Given the description of an element on the screen output the (x, y) to click on. 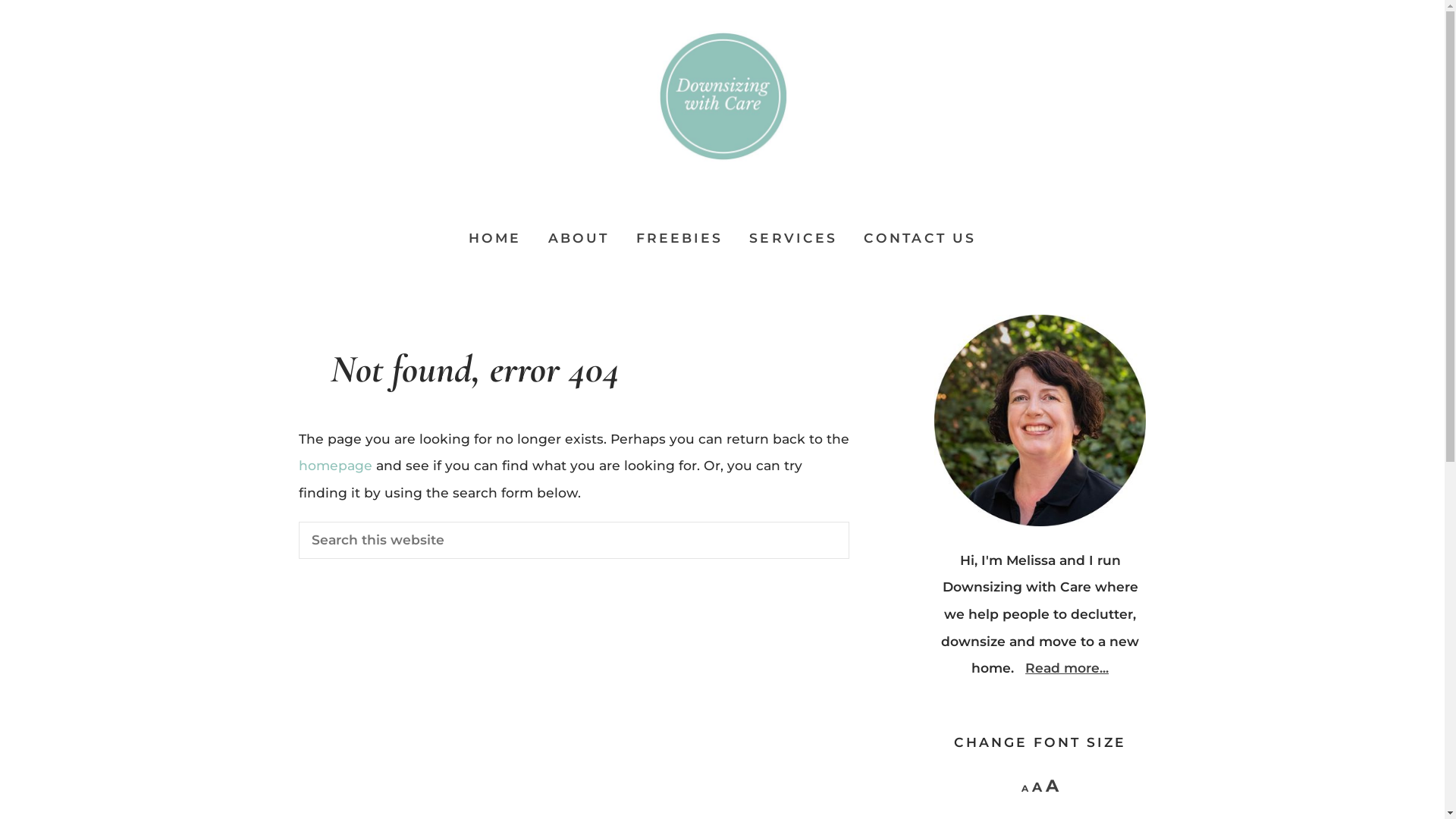
Search Element type: text (848, 520)
Downsizing with Care Element type: text (721, 96)
A
Increase font size. Element type: text (1051, 785)
homepage Element type: text (335, 465)
SERVICES Element type: text (792, 237)
A
Reset font size. Element type: text (1036, 786)
Read more... Element type: text (1066, 667)
A
Decrease font size. Element type: text (1024, 787)
Skip to main content Element type: text (0, 0)
FREEBIES Element type: text (679, 237)
ABOUT Element type: text (578, 237)
CONTACT US Element type: text (919, 237)
HOME Element type: text (495, 237)
